Given the description of an element on the screen output the (x, y) to click on. 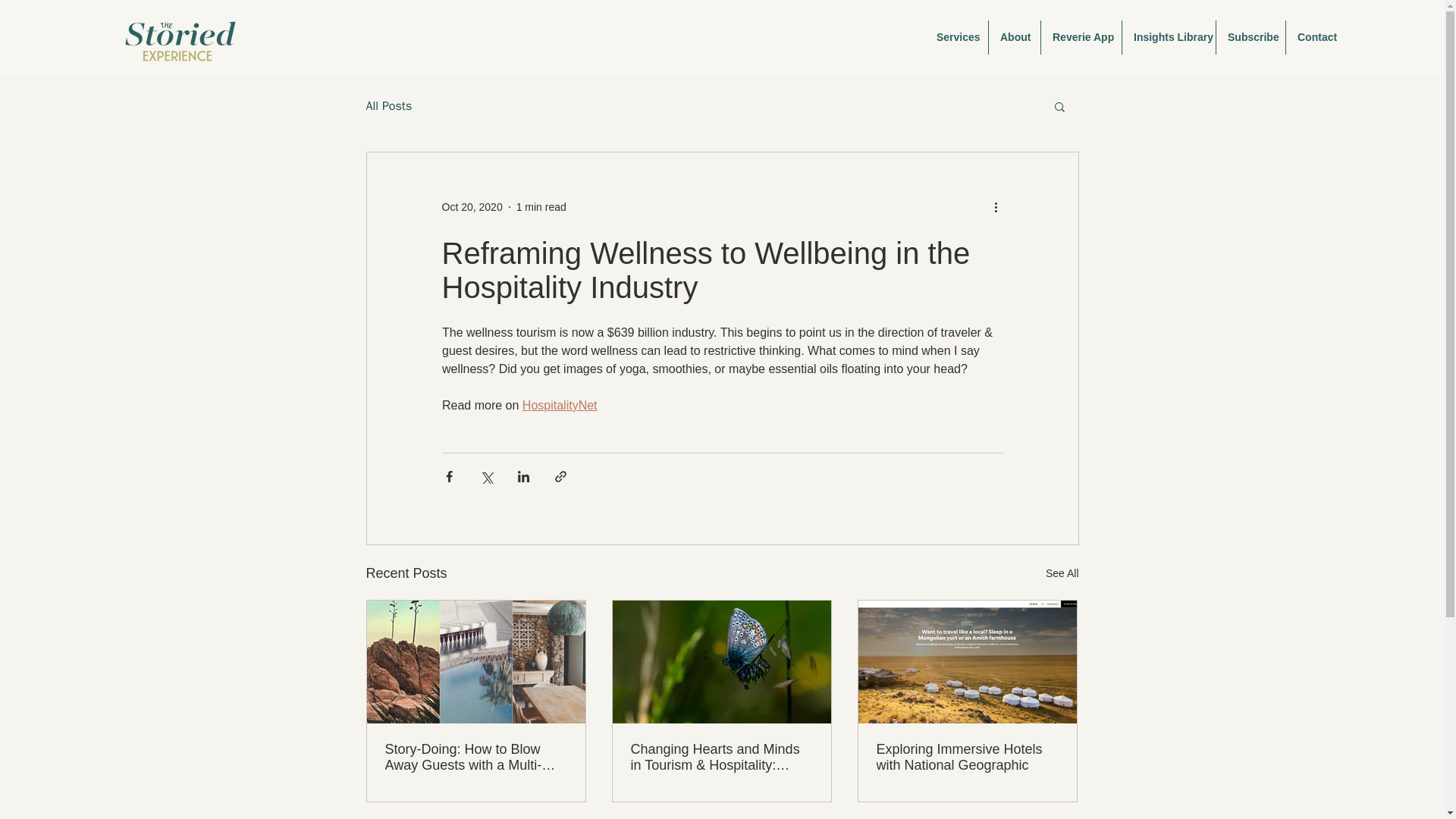
Reverie App (1081, 37)
HospitalityNet (558, 404)
All Posts (388, 106)
Subscribe (1250, 37)
Oct 20, 2020 (471, 205)
Contact (1314, 37)
Exploring Immersive Hotels with National Geographic (967, 757)
Insights Library (1168, 37)
About (1014, 37)
See All (1061, 573)
Services (956, 37)
1 min read (541, 205)
